Given the description of an element on the screen output the (x, y) to click on. 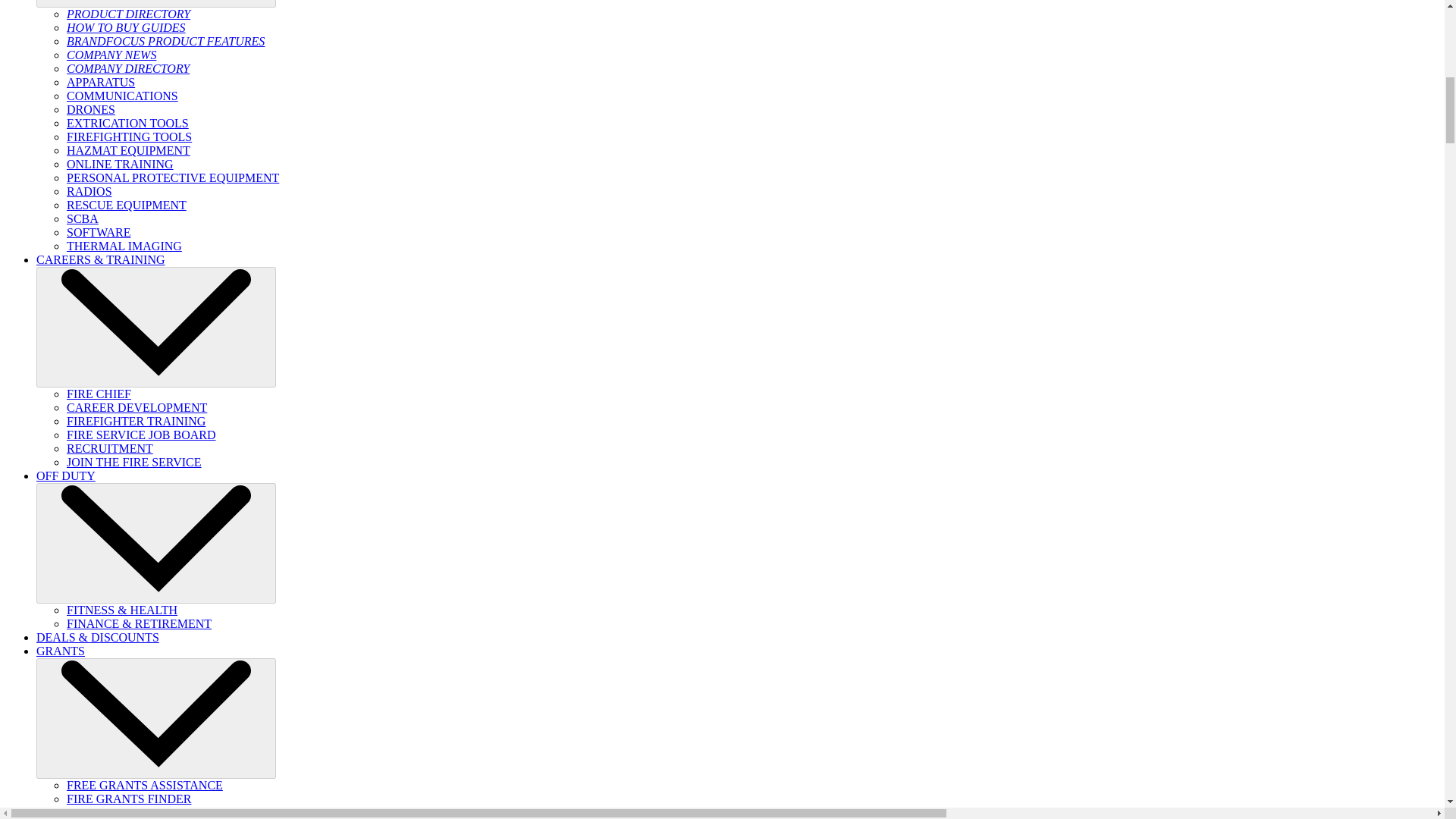
COMPANY NEWS (110, 54)
HOW TO BUY GUIDES (126, 27)
SOFTWARE (98, 232)
FIREFIGHTING TOOLS (129, 136)
HAZMAT EQUIPMENT (128, 150)
RADIOS (89, 191)
APPARATUS (100, 82)
THERMAL IMAGING (124, 245)
ONLINE TRAINING (119, 164)
EXTRICATION TOOLS (127, 123)
BRANDFOCUS PRODUCT FEATURES (165, 41)
DRONES (90, 109)
RESCUE EQUIPMENT (126, 205)
COMMUNICATIONS (121, 95)
COMPANY DIRECTORY (127, 68)
